Given the description of an element on the screen output the (x, y) to click on. 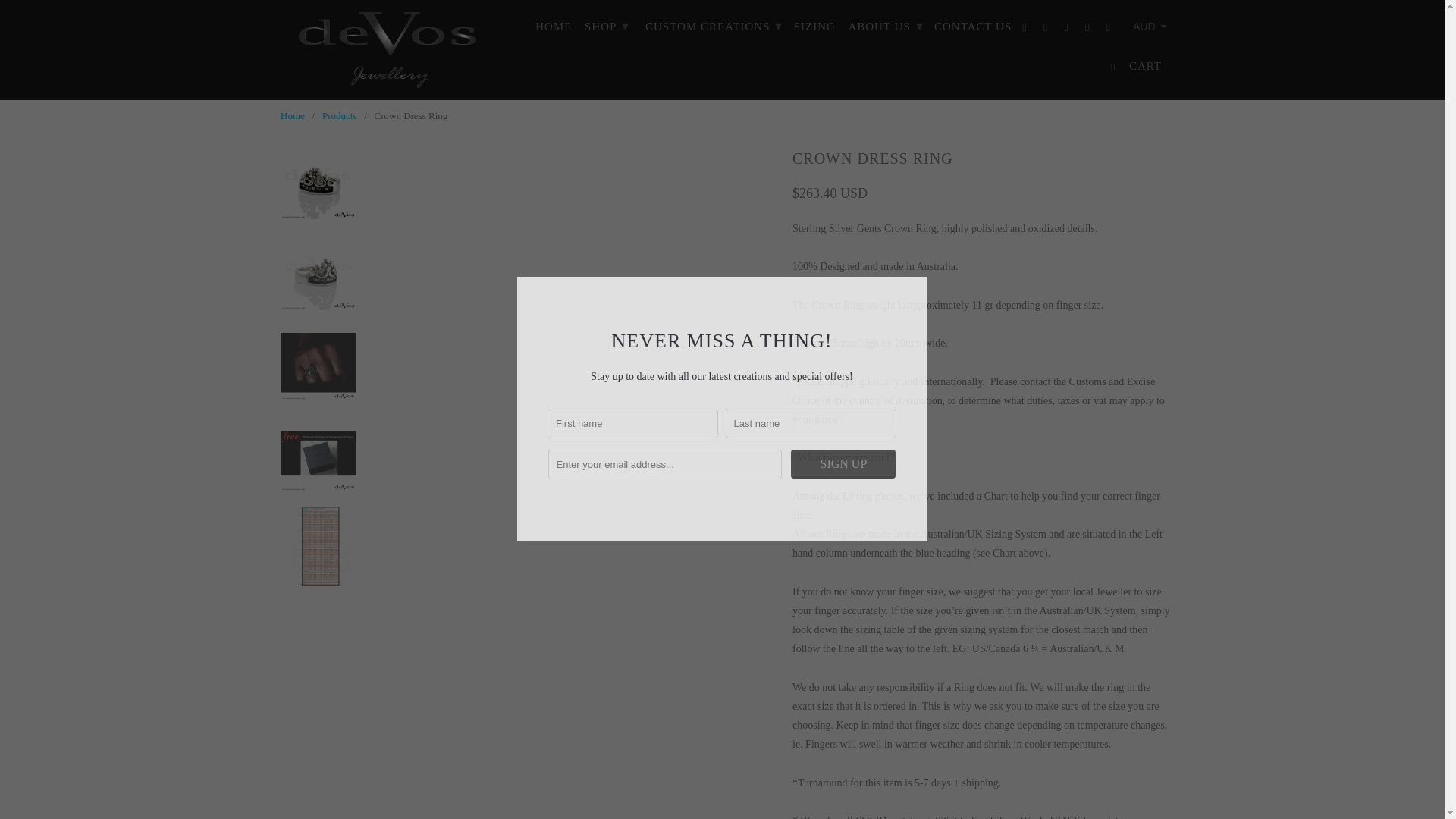
Products (338, 115)
deVos Jewellery (292, 115)
Sign Up (842, 463)
deVos Jewellery (387, 49)
